Given the description of an element on the screen output the (x, y) to click on. 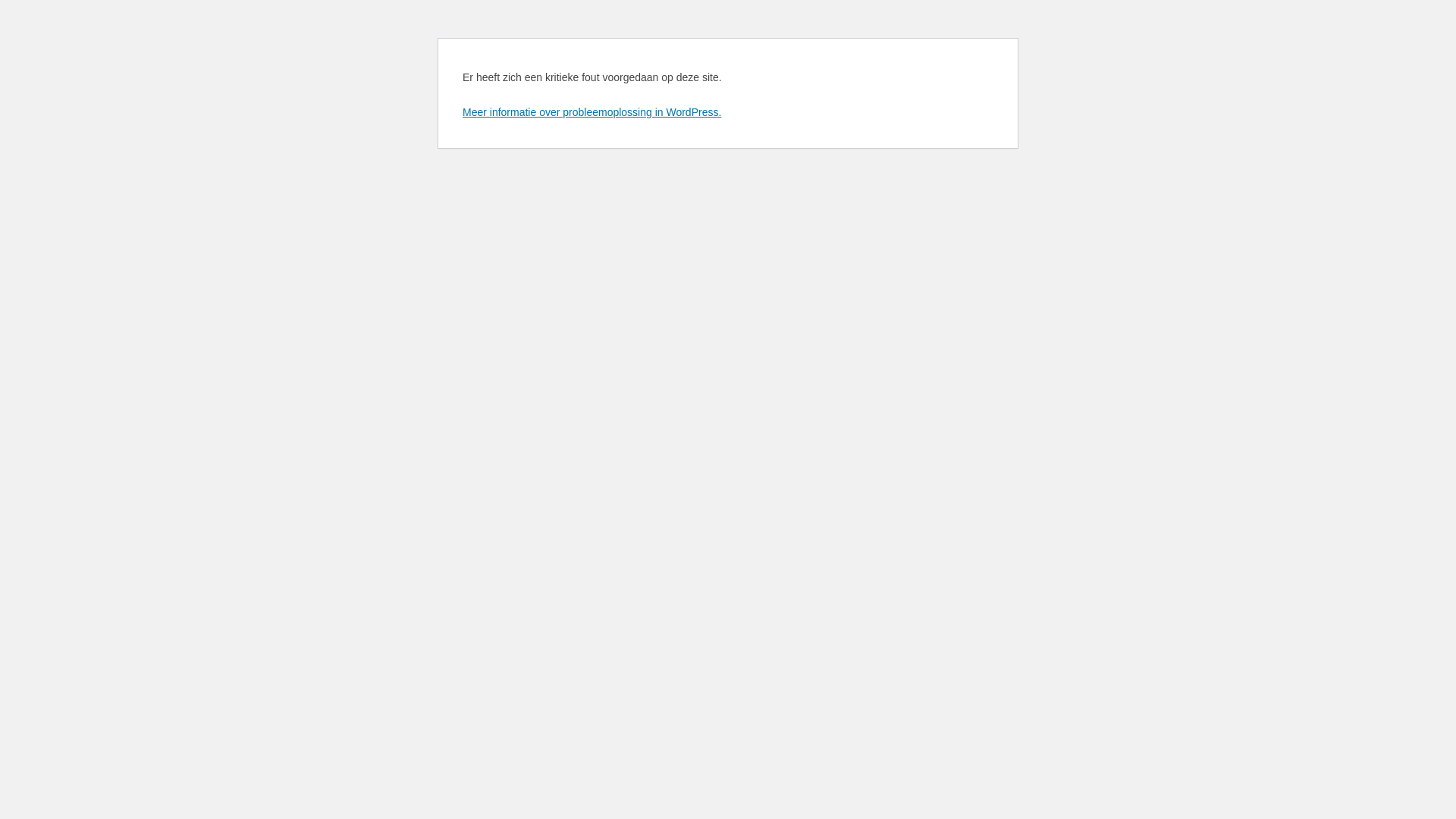
Meer informatie over probleemoplossing in WordPress. Element type: text (591, 112)
